Given the description of an element on the screen output the (x, y) to click on. 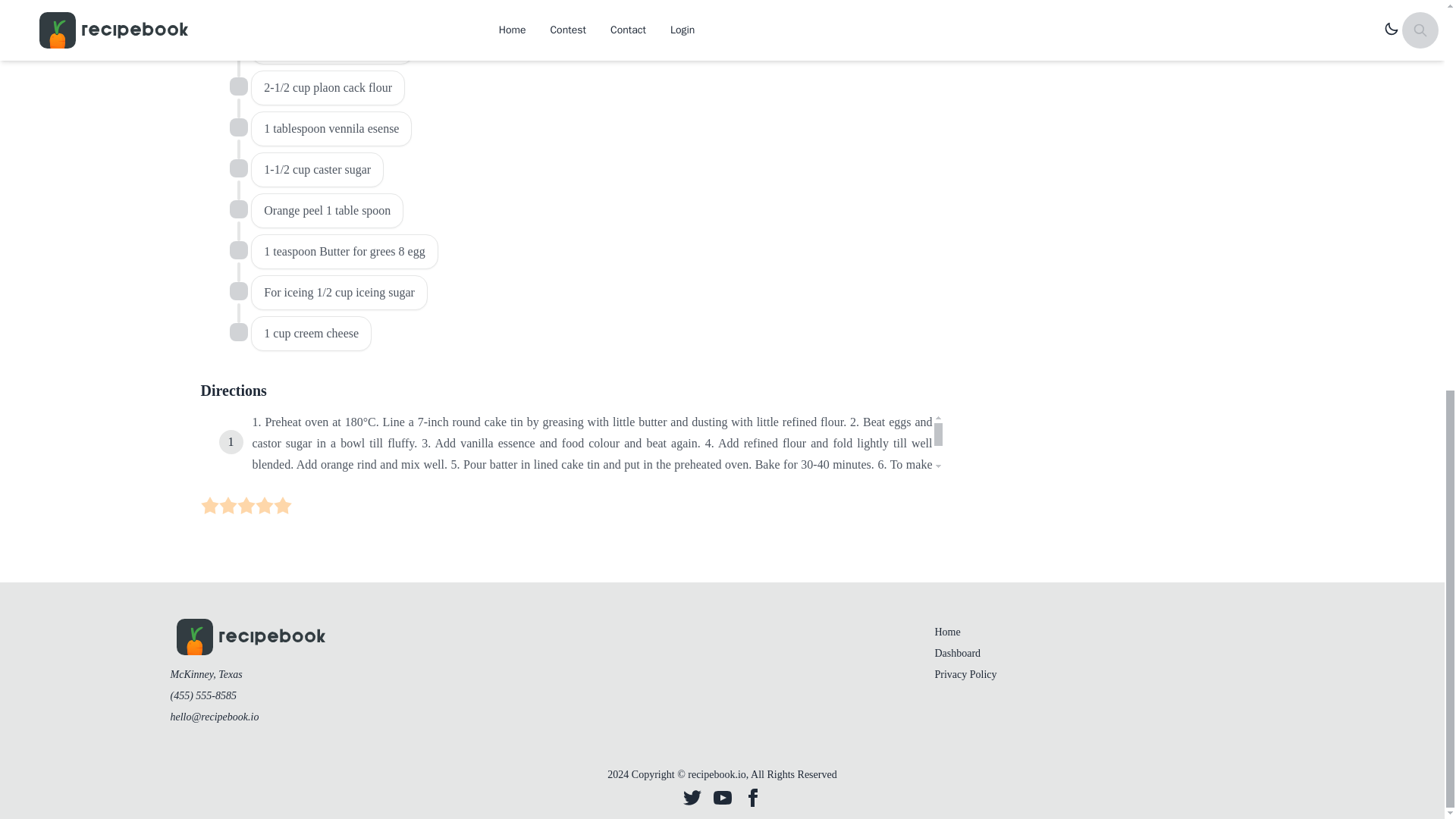
on (238, 45)
on (238, 126)
Dashboard (956, 653)
on (238, 290)
on (238, 85)
on (226, 505)
on (244, 505)
on (238, 331)
on (238, 167)
on (238, 208)
on (209, 505)
on (238, 249)
Privacy Policy (964, 674)
on (263, 505)
Home (946, 631)
